Given the description of an element on the screen output the (x, y) to click on. 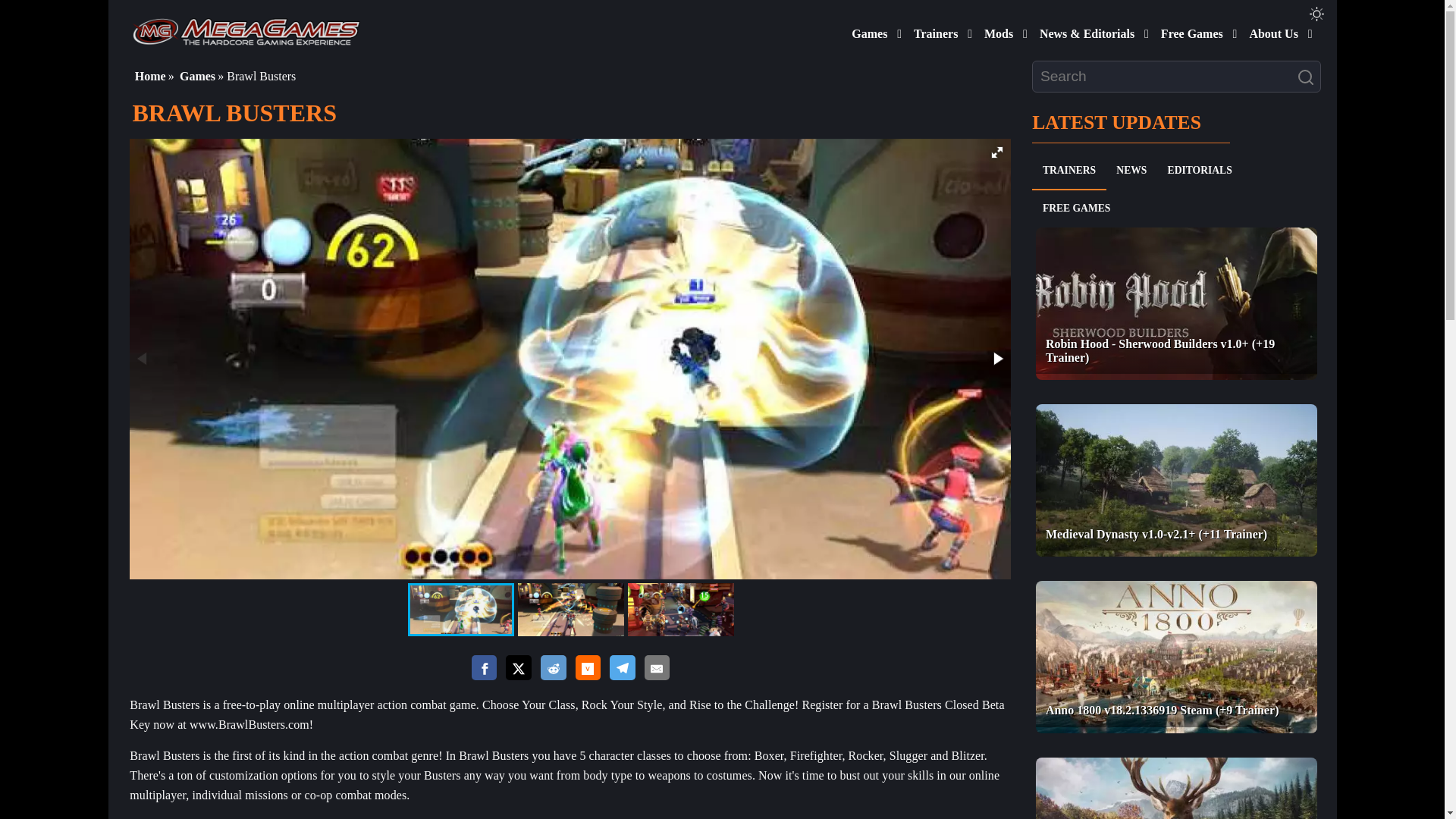
Brawl Busters (569, 609)
Hacker News Share (587, 668)
X (518, 668)
Email Share (656, 668)
Brawl Busters (460, 609)
Brawl Busters (680, 609)
Reddit Share (553, 668)
Games (866, 31)
Search (1308, 77)
Trainers (932, 31)
Twitter Share (518, 668)
megagames.com (245, 30)
Facebook Share (484, 668)
Telegram Share (621, 668)
